Given the description of an element on the screen output the (x, y) to click on. 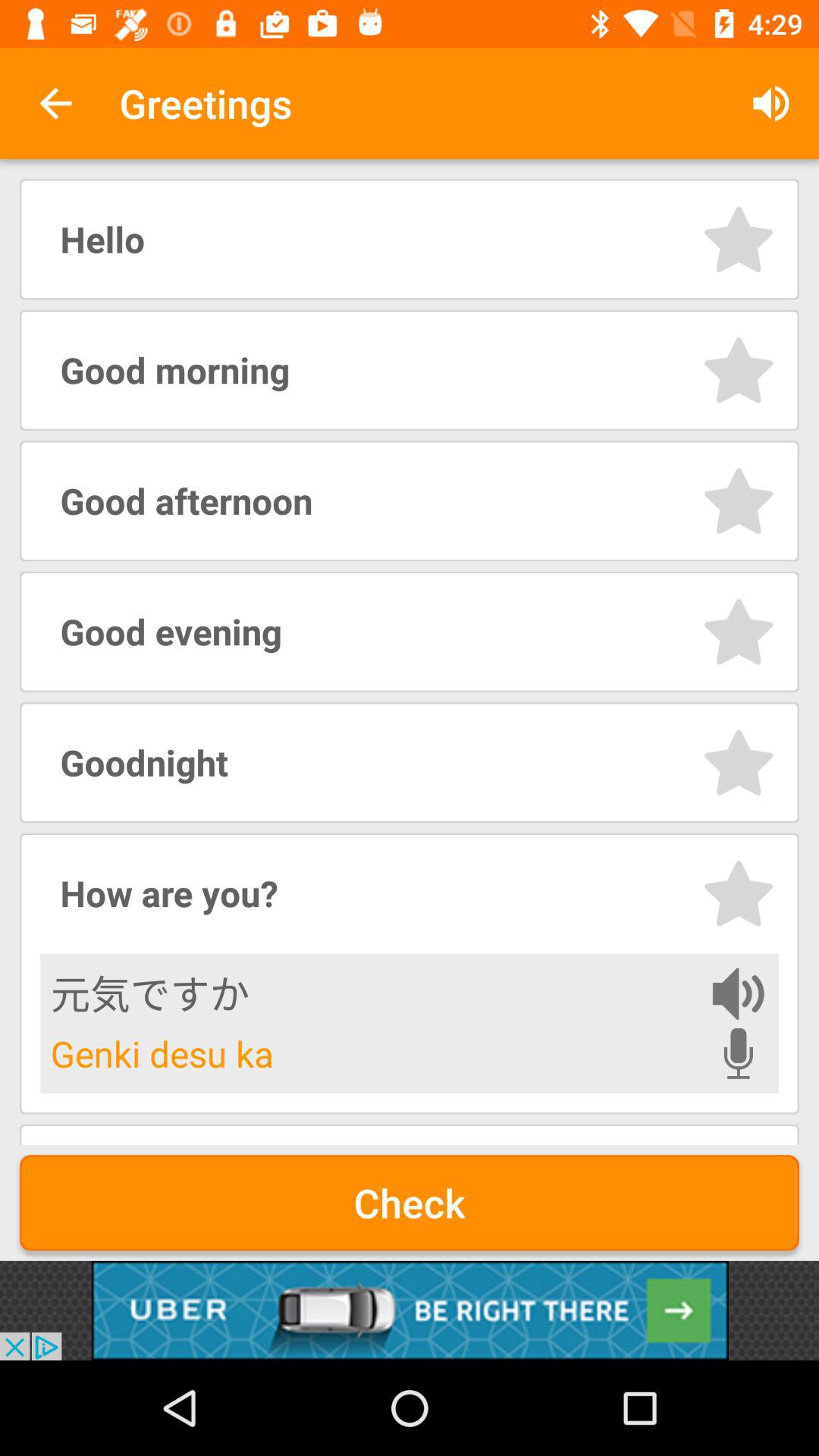
good night as greetings (738, 762)
